Given the description of an element on the screen output the (x, y) to click on. 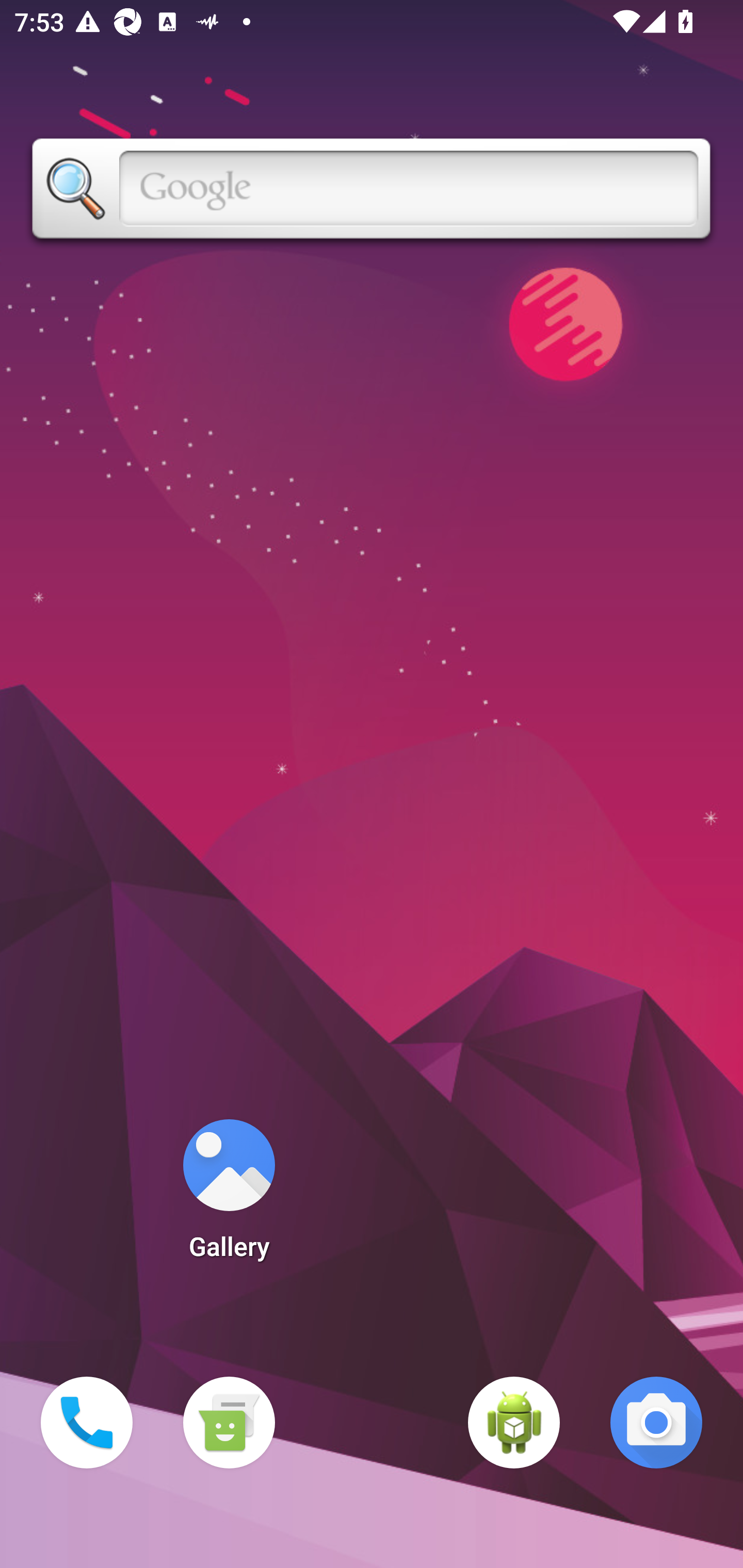
Gallery (228, 1195)
Phone (86, 1422)
Messaging (228, 1422)
WebView Browser Tester (513, 1422)
Camera (656, 1422)
